Given the description of an element on the screen output the (x, y) to click on. 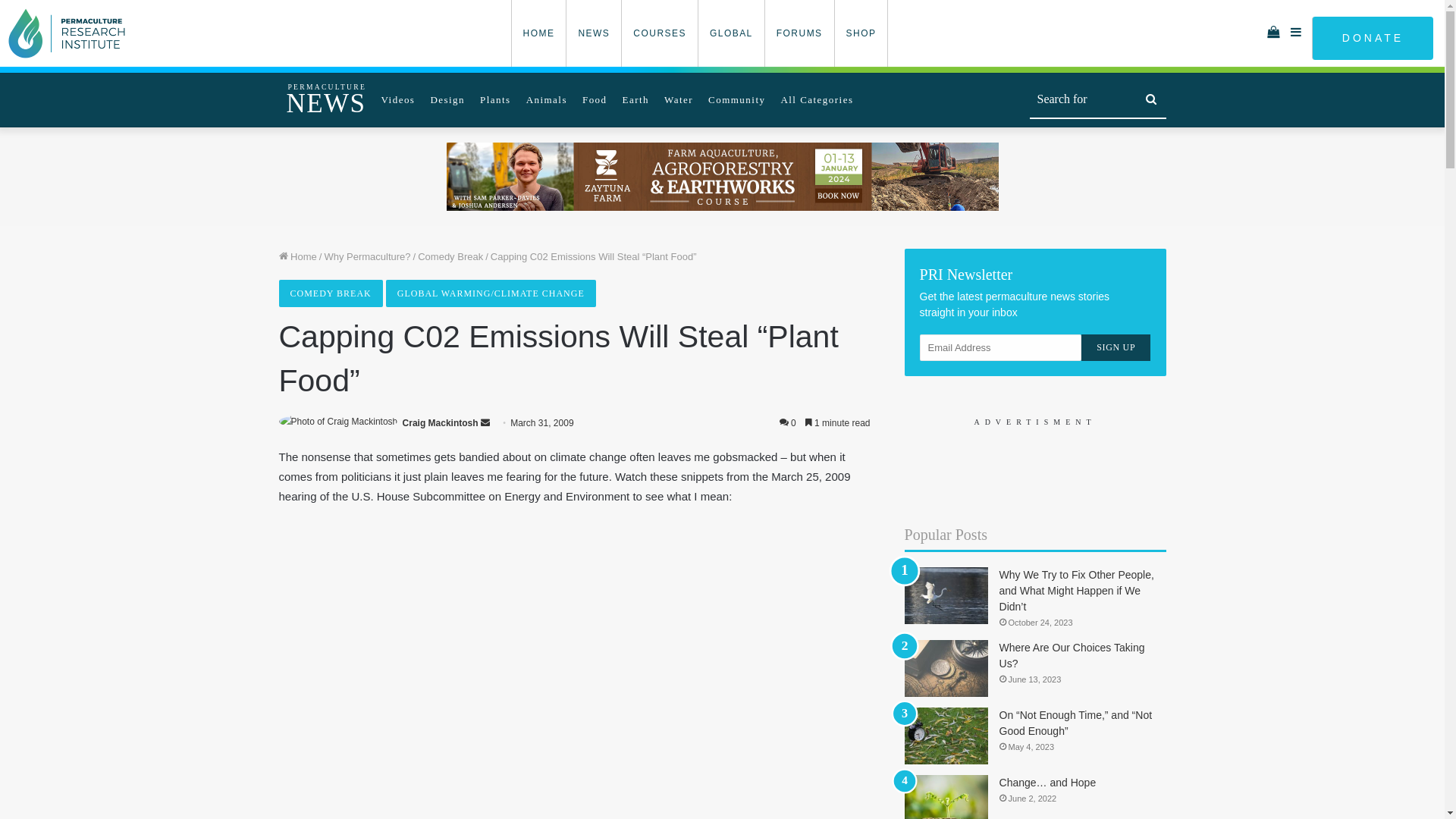
NEWS Element type: text (326, 103)
Videos Element type: text (398, 99)
All Categories Element type: text (816, 99)
Search for Element type: text (1150, 99)
Design Element type: text (447, 99)
DONATE Element type: text (1372, 37)
Earth Element type: text (636, 99)
Sidebar Element type: text (1296, 33)
View your shopping cart Element type: text (1273, 33)
Water Element type: text (678, 99)
Comedy Break Element type: text (450, 256)
Sign Up Element type: text (1115, 347)
Why Permaculture? Element type: text (366, 256)
GLOBAL WARMING/CLIMATE CHANGE Element type: text (490, 293)
COURSES Element type: text (659, 33)
NEWS Element type: text (593, 33)
Community Element type: text (736, 99)
Advertisement Element type: hover (1035, 470)
Where Are Our Choices Taking Us? Element type: text (1072, 655)
Animals Element type: text (546, 99)
The Permaculture Research Institute Element type: hover (70, 32)
FORUMS Element type: text (799, 33)
SHOP Element type: text (861, 33)
Search for Element type: hover (1097, 100)
Send an email Element type: text (484, 422)
Food Element type: text (594, 99)
Plants Element type: text (495, 99)
COMEDY BREAK Element type: text (330, 293)
GLOBAL Element type: text (730, 33)
HOME Element type: text (538, 33)
Craig Mackintosh Element type: text (440, 422)
Home Element type: text (297, 256)
